Given the description of an element on the screen output the (x, y) to click on. 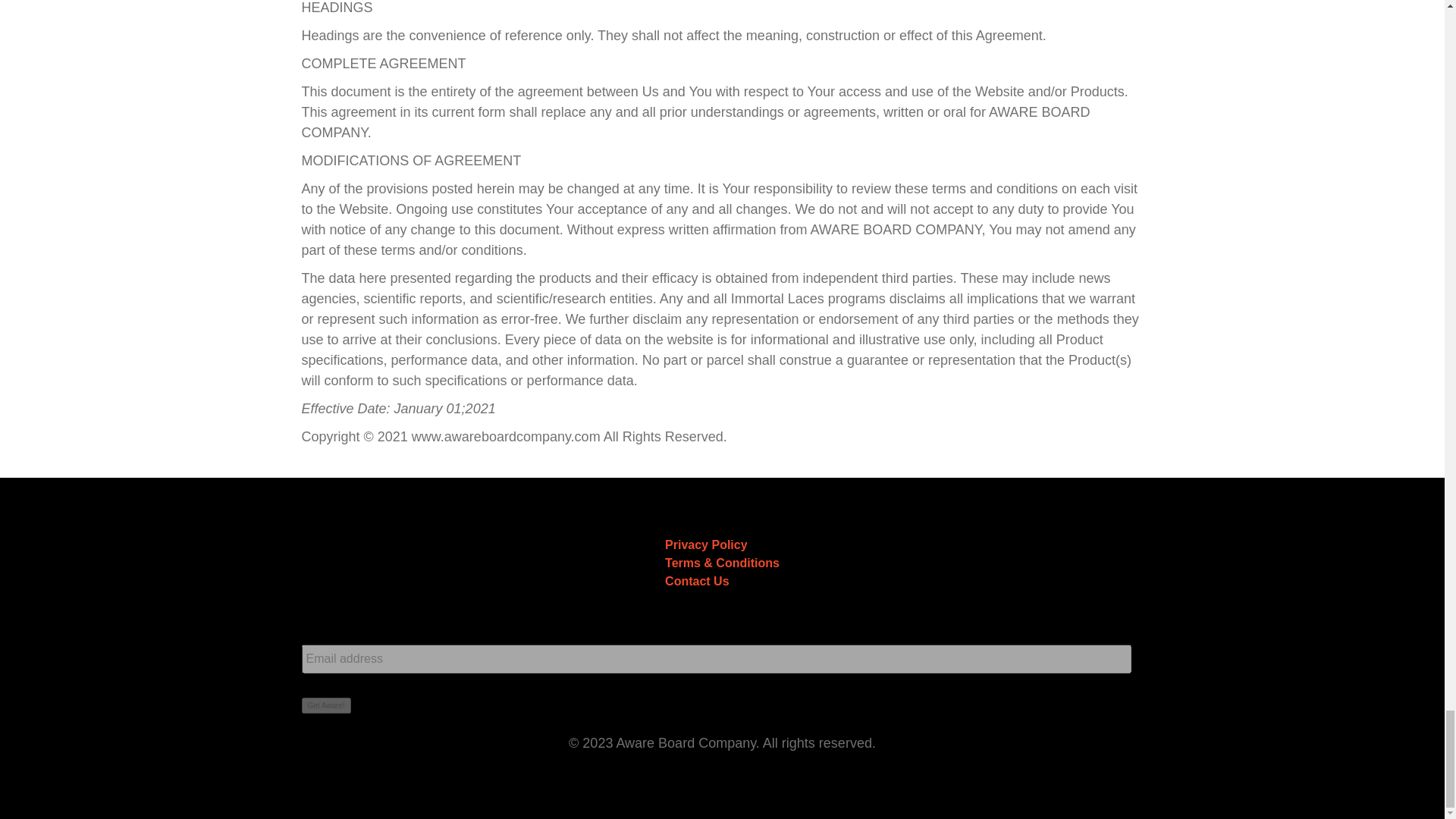
Privacy Policy (706, 544)
Contact Us (697, 581)
Get Aware! (325, 705)
Get Aware! (325, 705)
